Given the description of an element on the screen output the (x, y) to click on. 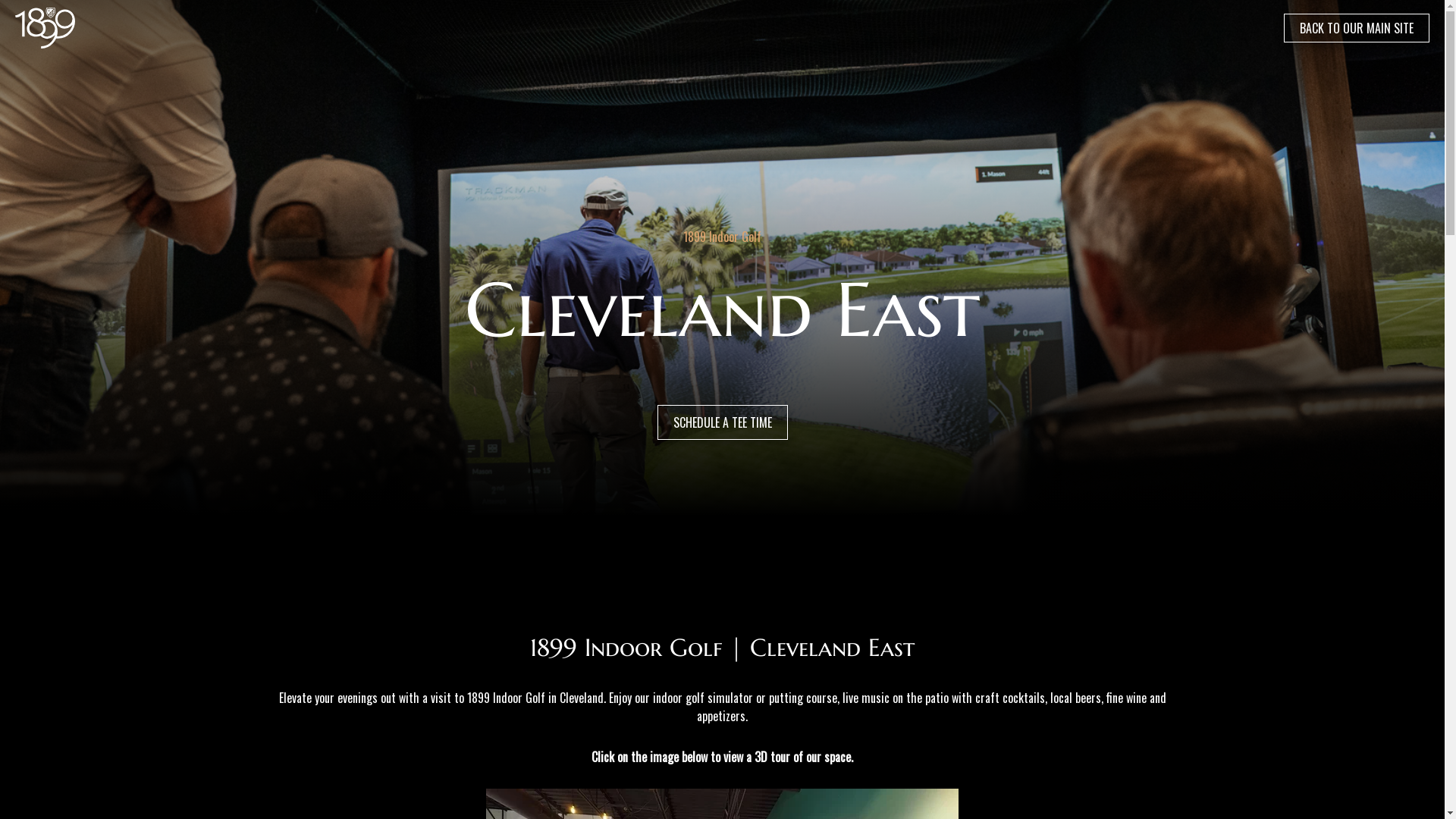
SCHEDULE A TEE TIME Element type: text (721, 421)
1899 Golf Logo Element type: hover (45, 27)
BACK TO OUR MAIN SITE Element type: text (1356, 27)
